Given the description of an element on the screen output the (x, y) to click on. 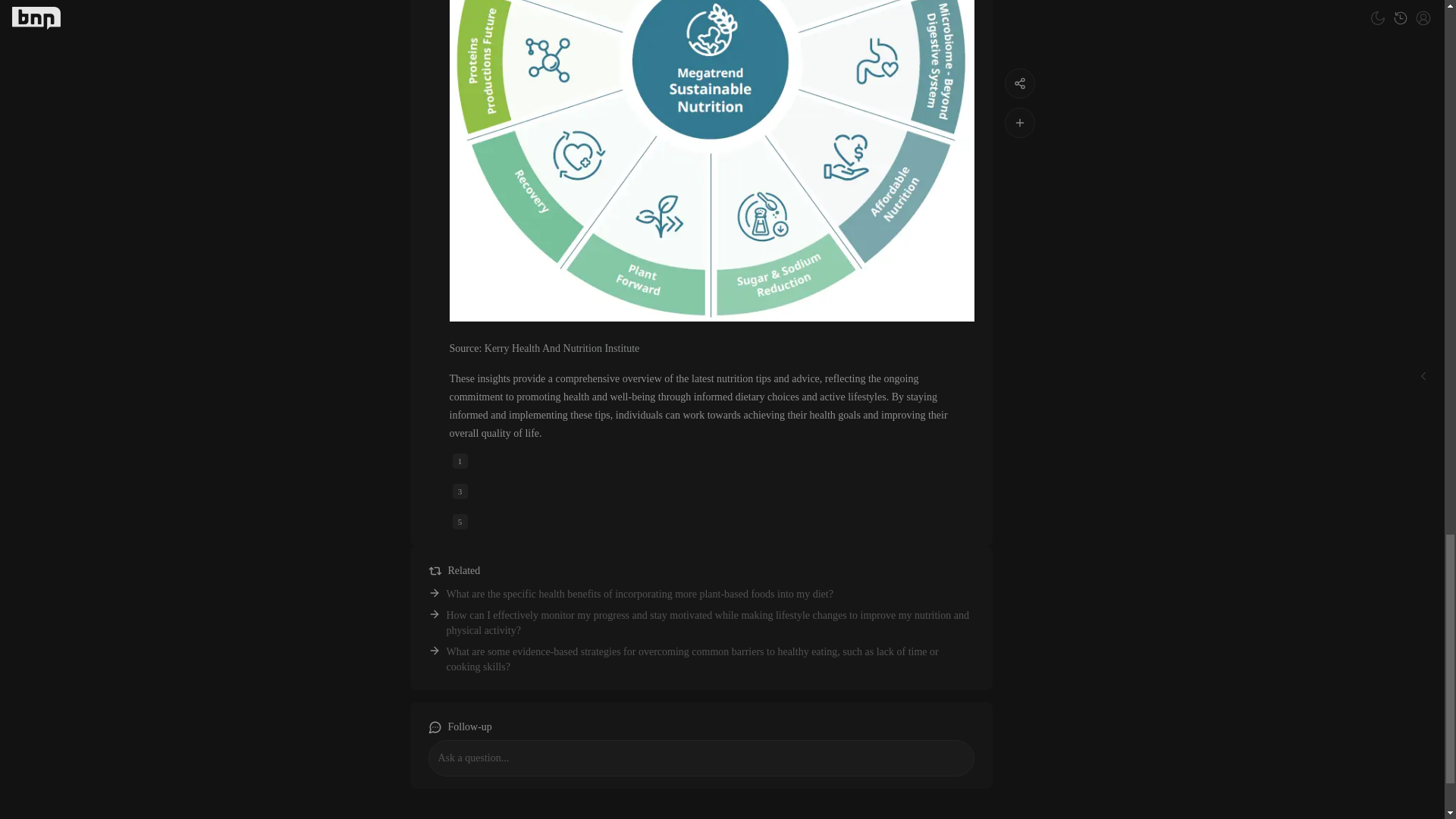
1 (459, 460)
5 (459, 521)
3 (459, 491)
Kerry Health And Nutrition Institute (562, 348)
